Given the description of an element on the screen output the (x, y) to click on. 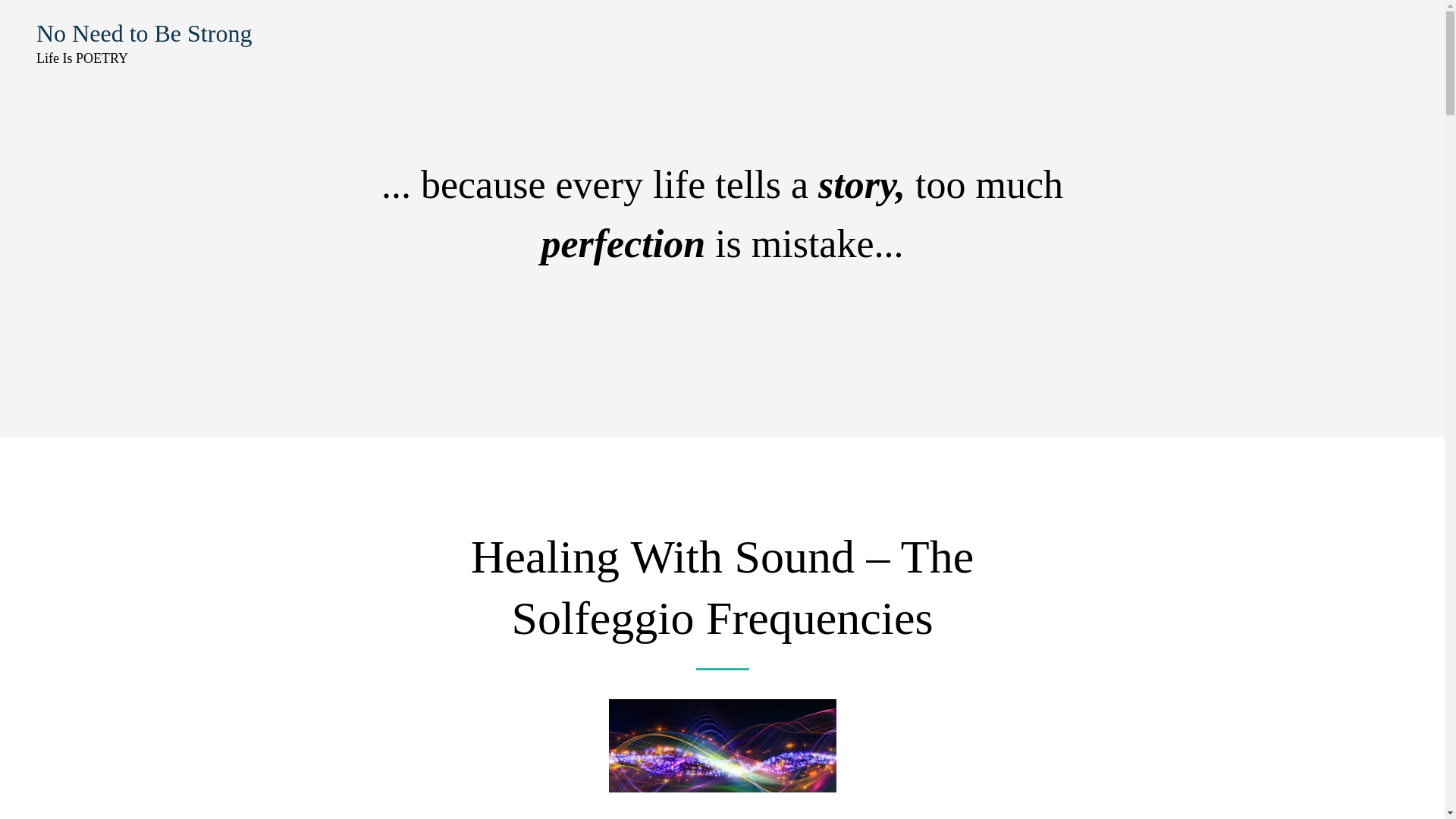
No Need to Be Strong (143, 33)
